Given the description of an element on the screen output the (x, y) to click on. 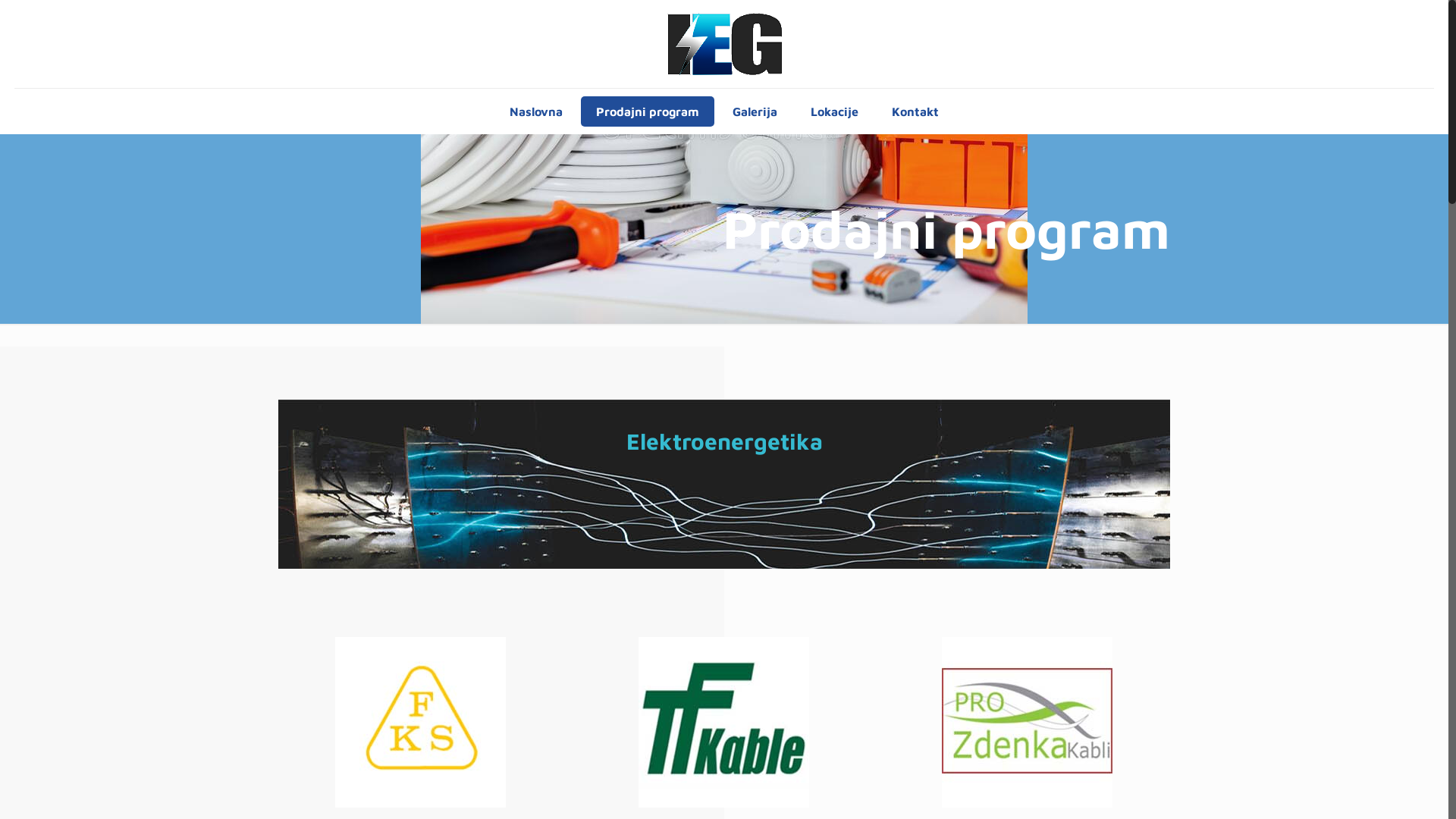
Kontakt Element type: text (914, 111)
Lokacije Element type: text (834, 111)
Naslovna Element type: text (535, 111)
Prodajni program Element type: text (647, 111)
"I.E.G" d.o.o. Element type: hover (723, 43)
Galerija Element type: text (754, 111)
